Given the description of an element on the screen output the (x, y) to click on. 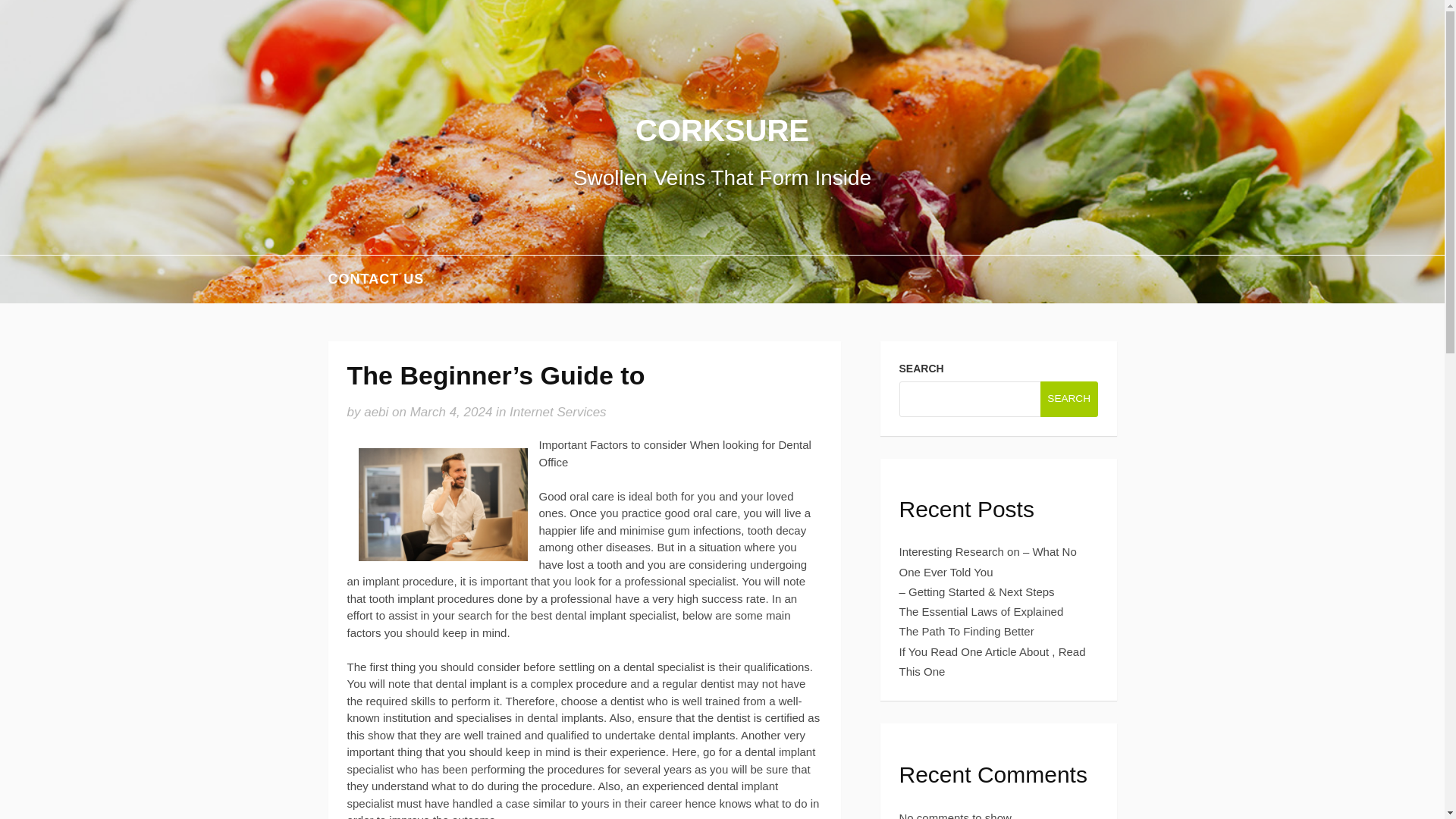
CORKSURE (721, 130)
SEARCH (1069, 398)
March 4, 2024 (451, 411)
The Path To Finding Better (966, 631)
If You Read One Article About , Read This One (992, 661)
Internet Services (558, 411)
aebi (376, 411)
CONTACT US (375, 279)
The Essential Laws of Explained (981, 611)
